Given the description of an element on the screen output the (x, y) to click on. 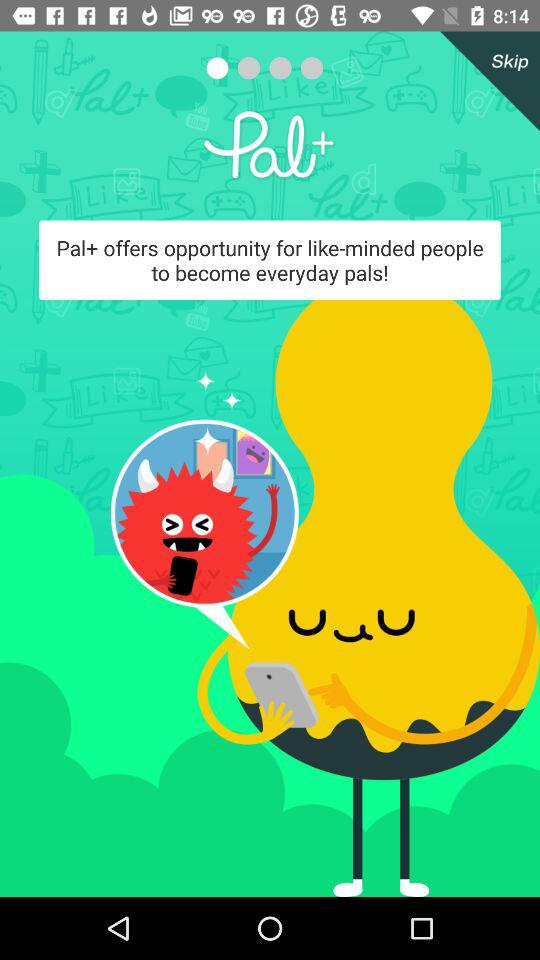
skip option (486, 81)
